Given the description of an element on the screen output the (x, y) to click on. 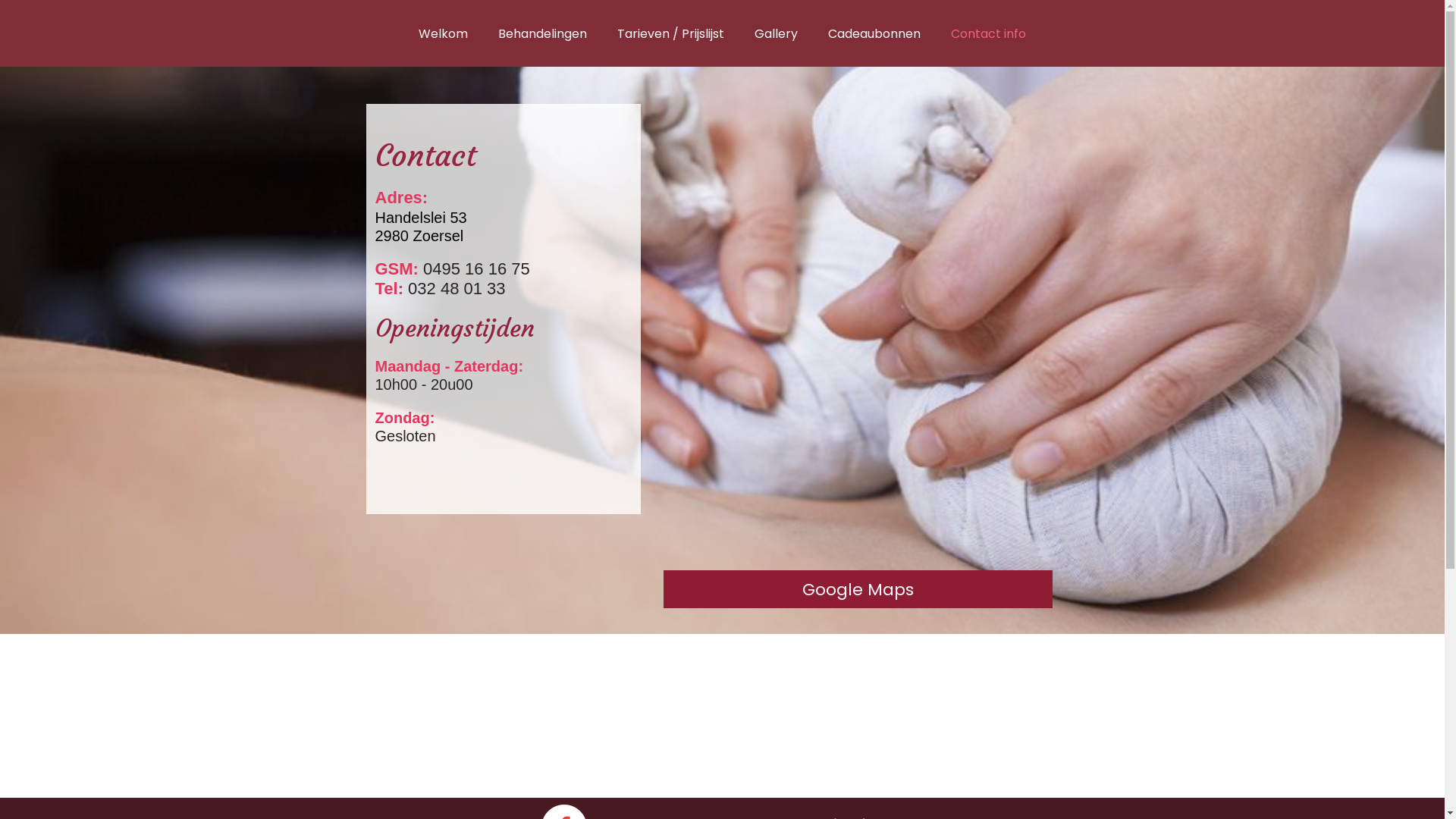
Google Maps Element type: text (856, 589)
Gallery Element type: text (775, 33)
Contact info Element type: text (988, 33)
Tarieven / Prijslijst Element type: text (670, 33)
Welkom Element type: text (443, 33)
Behandelingen Element type: text (542, 33)
Cadeaubonnen Element type: text (873, 33)
